Given the description of an element on the screen output the (x, y) to click on. 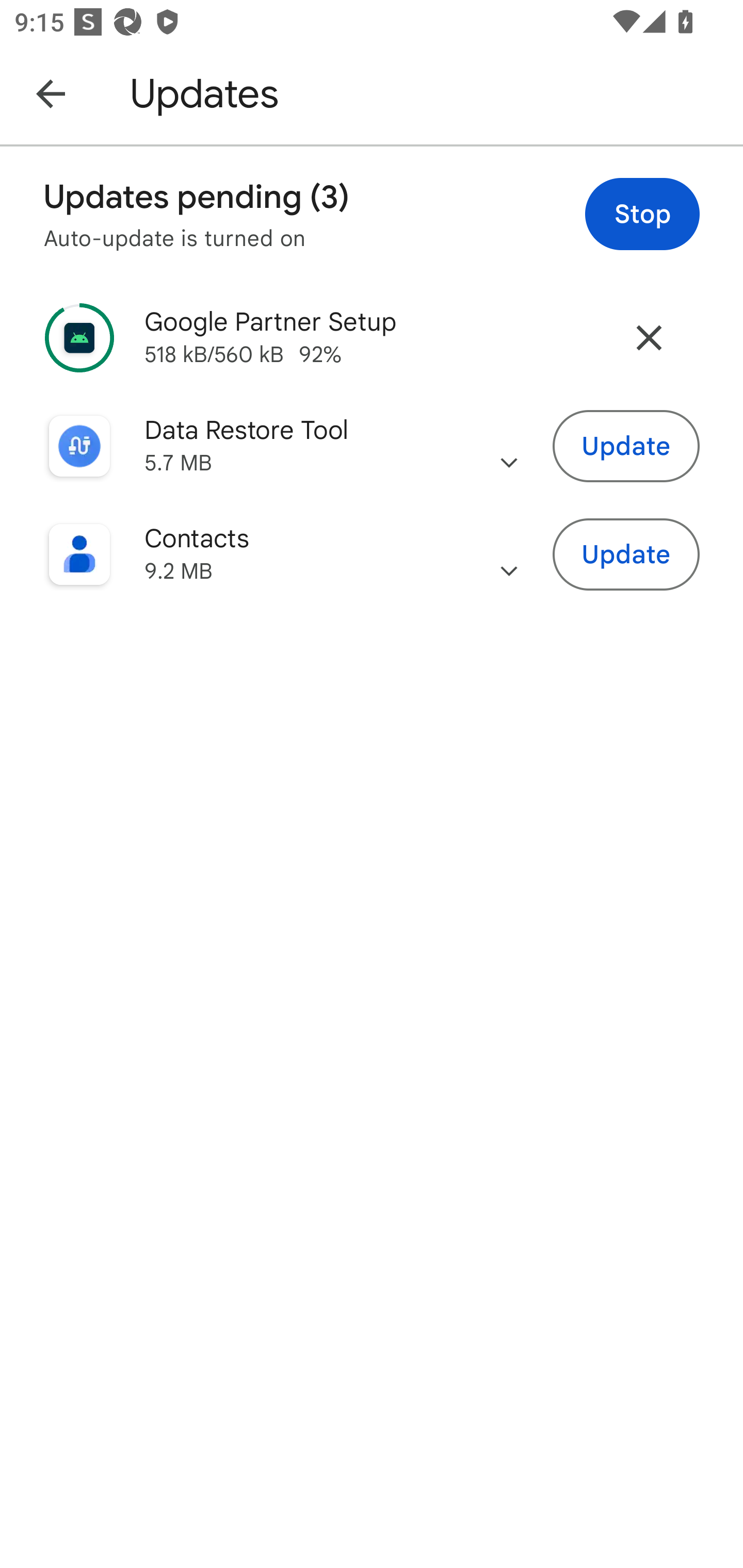
Navigate up (50, 92)
Stop (642, 213)
Cancel (648, 337)
Changes in the app (508, 446)
Update (625, 446)
Changes in the app (508, 554)
Update (625, 555)
